Given the description of an element on the screen output the (x, y) to click on. 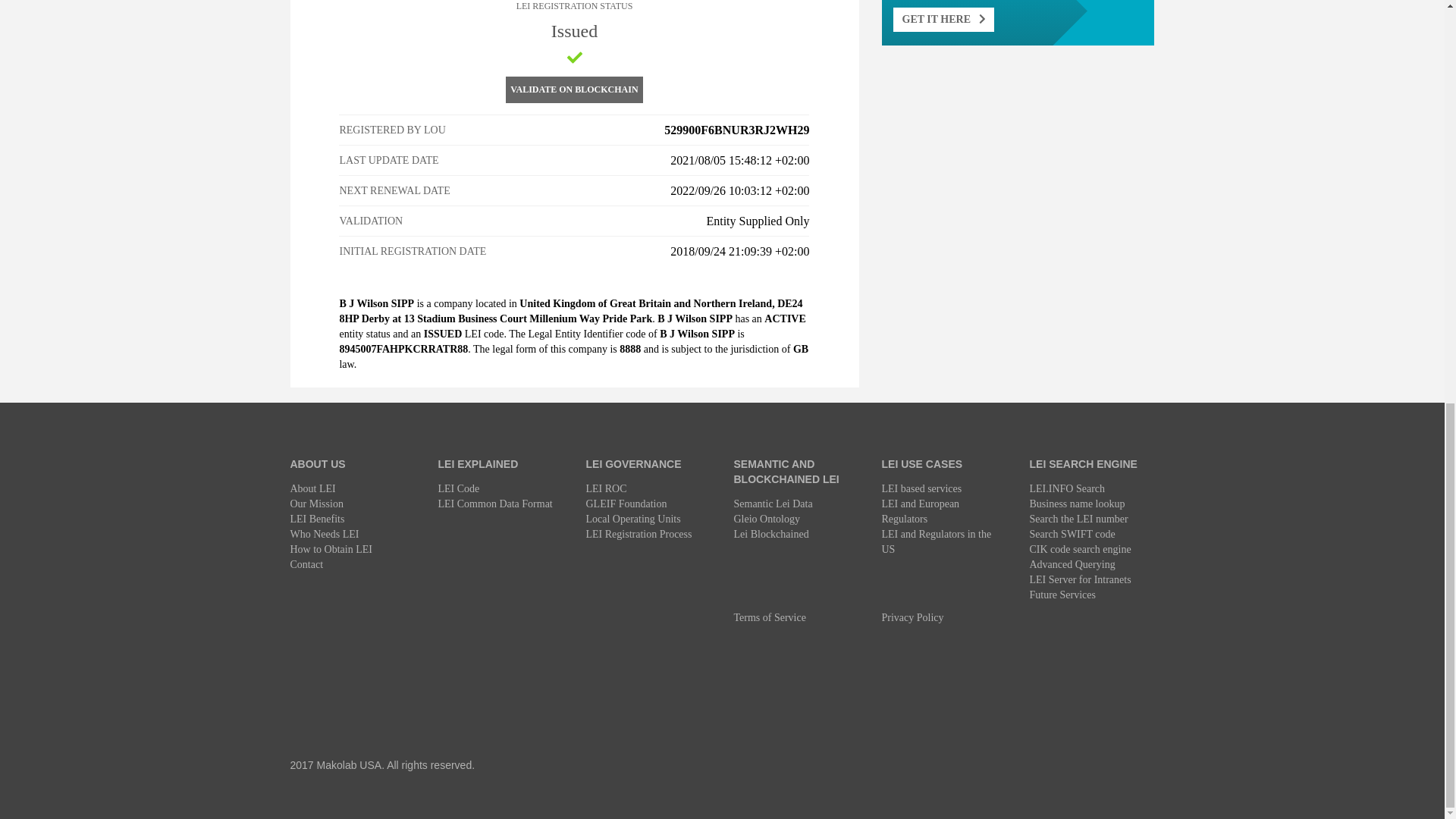
Issued (574, 57)
